Given the description of an element on the screen output the (x, y) to click on. 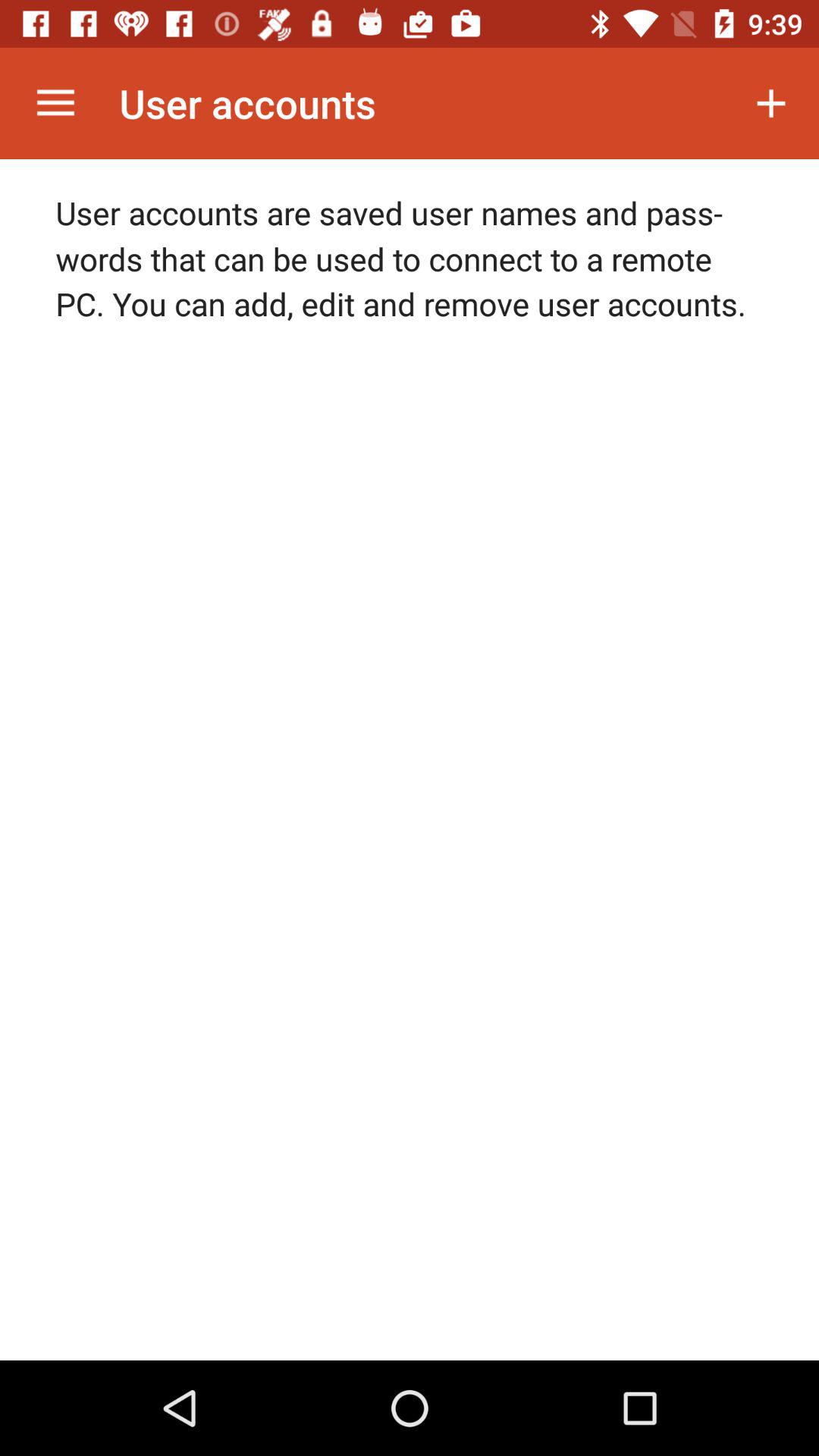
tap icon above the user accounts are item (55, 103)
